Given the description of an element on the screen output the (x, y) to click on. 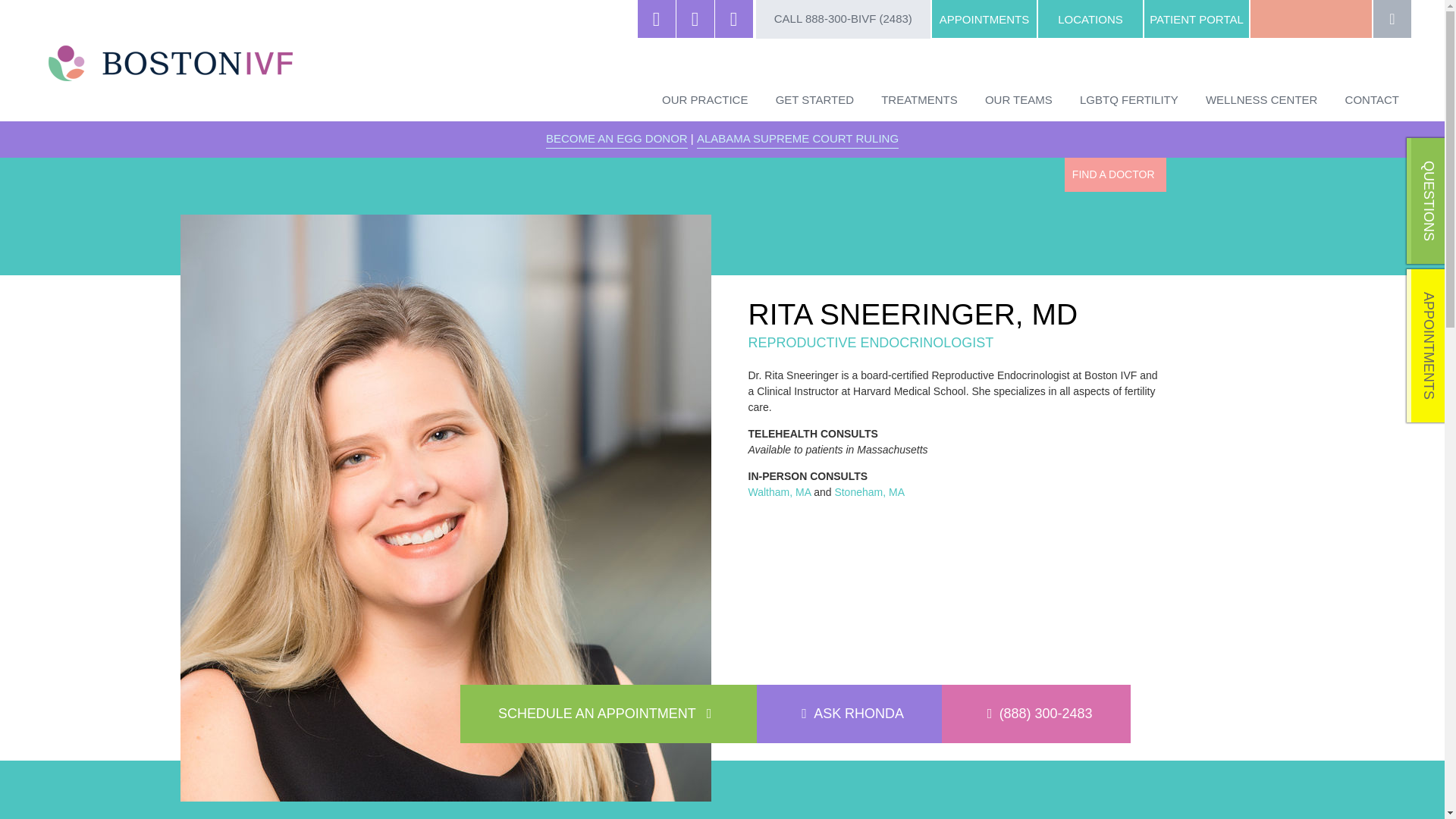
APPOINTMENTS (983, 18)
PATIENT PORTAL (1196, 18)
OUR PRACTICE (704, 98)
GET STARTED (814, 98)
LOCATIONS (1090, 18)
